Given the description of an element on the screen output the (x, y) to click on. 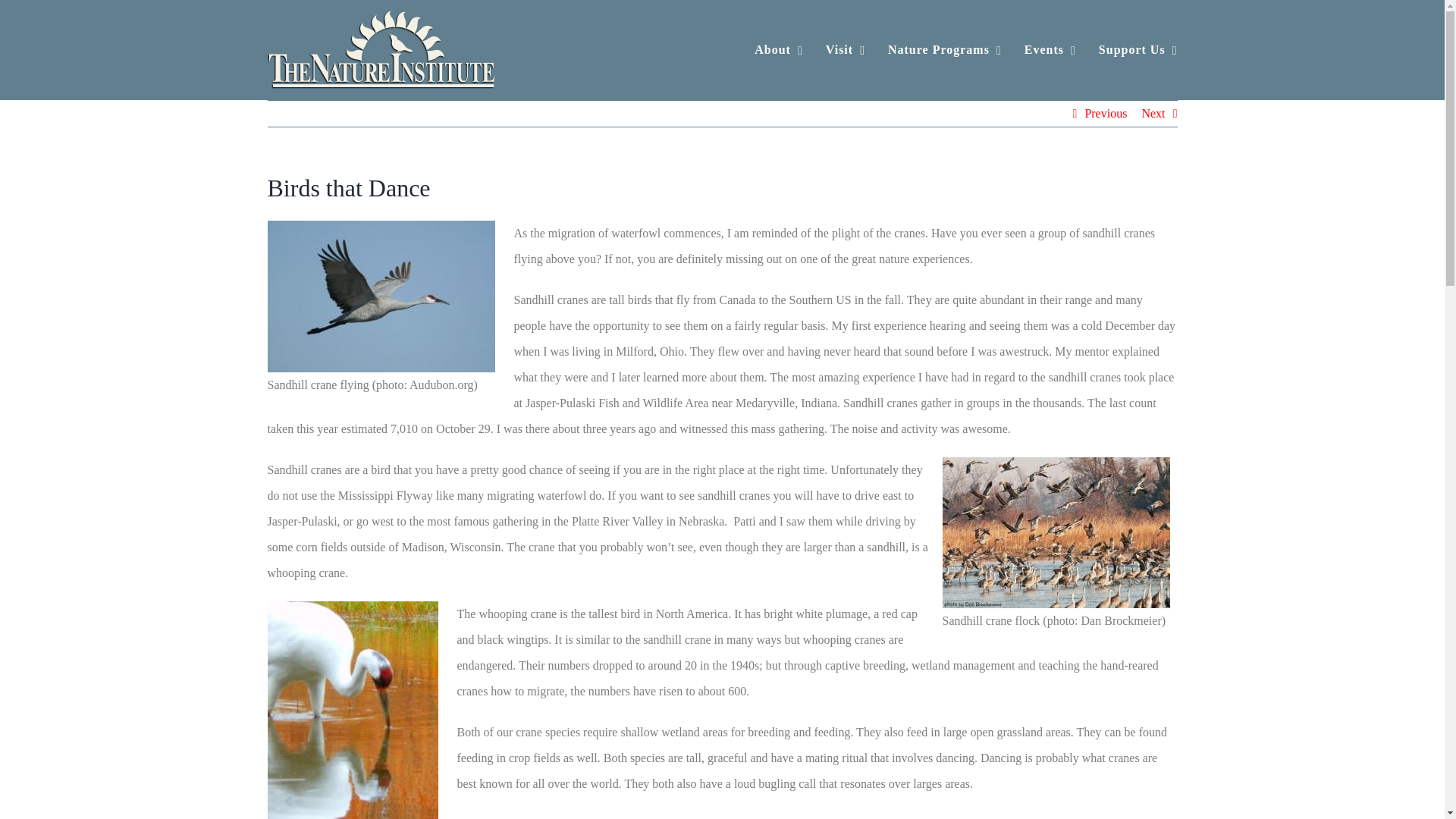
Nature Programs (944, 49)
